Given the description of an element on the screen output the (x, y) to click on. 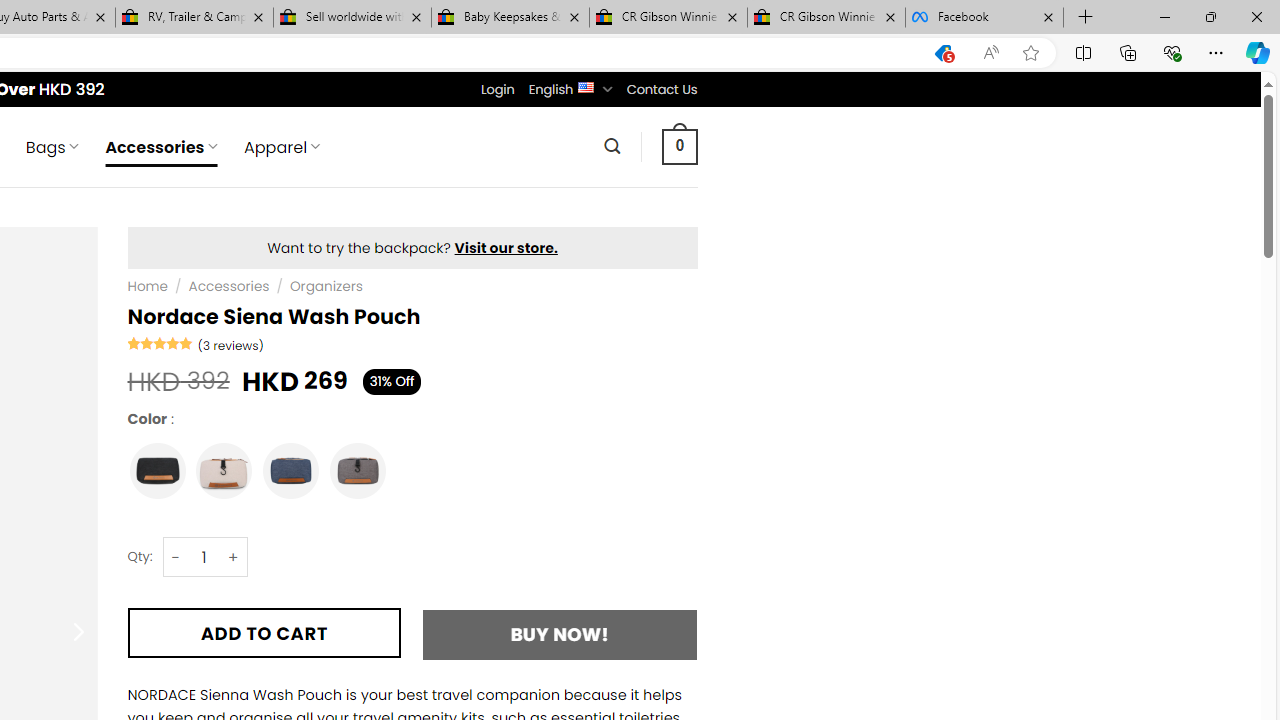
Rated 5.00 out of 5 (160, 342)
